Given the description of an element on the screen output the (x, y) to click on. 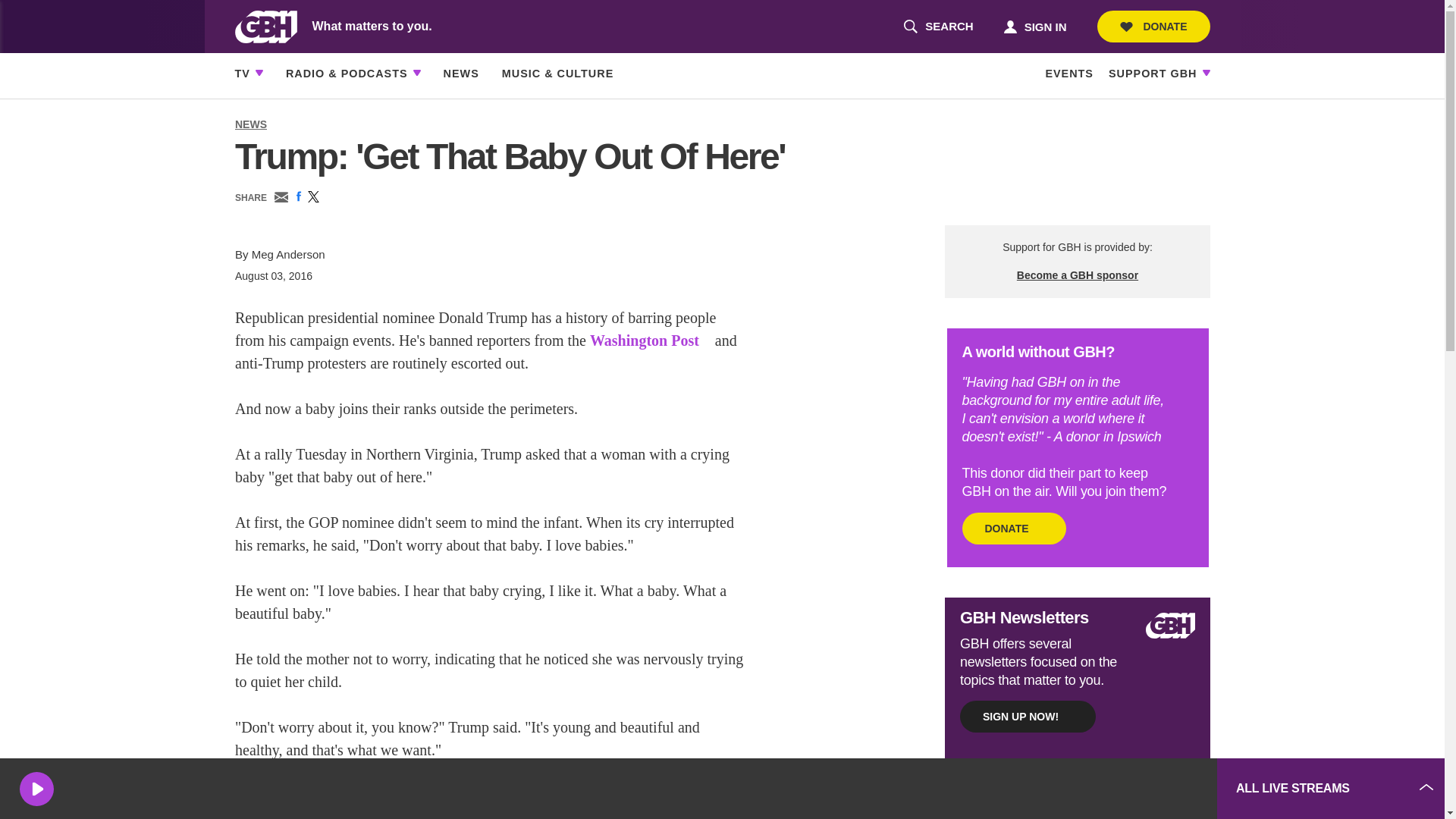
SIGN IN (1034, 25)
DONATE (1153, 26)
TV (937, 26)
